Given the description of an element on the screen output the (x, y) to click on. 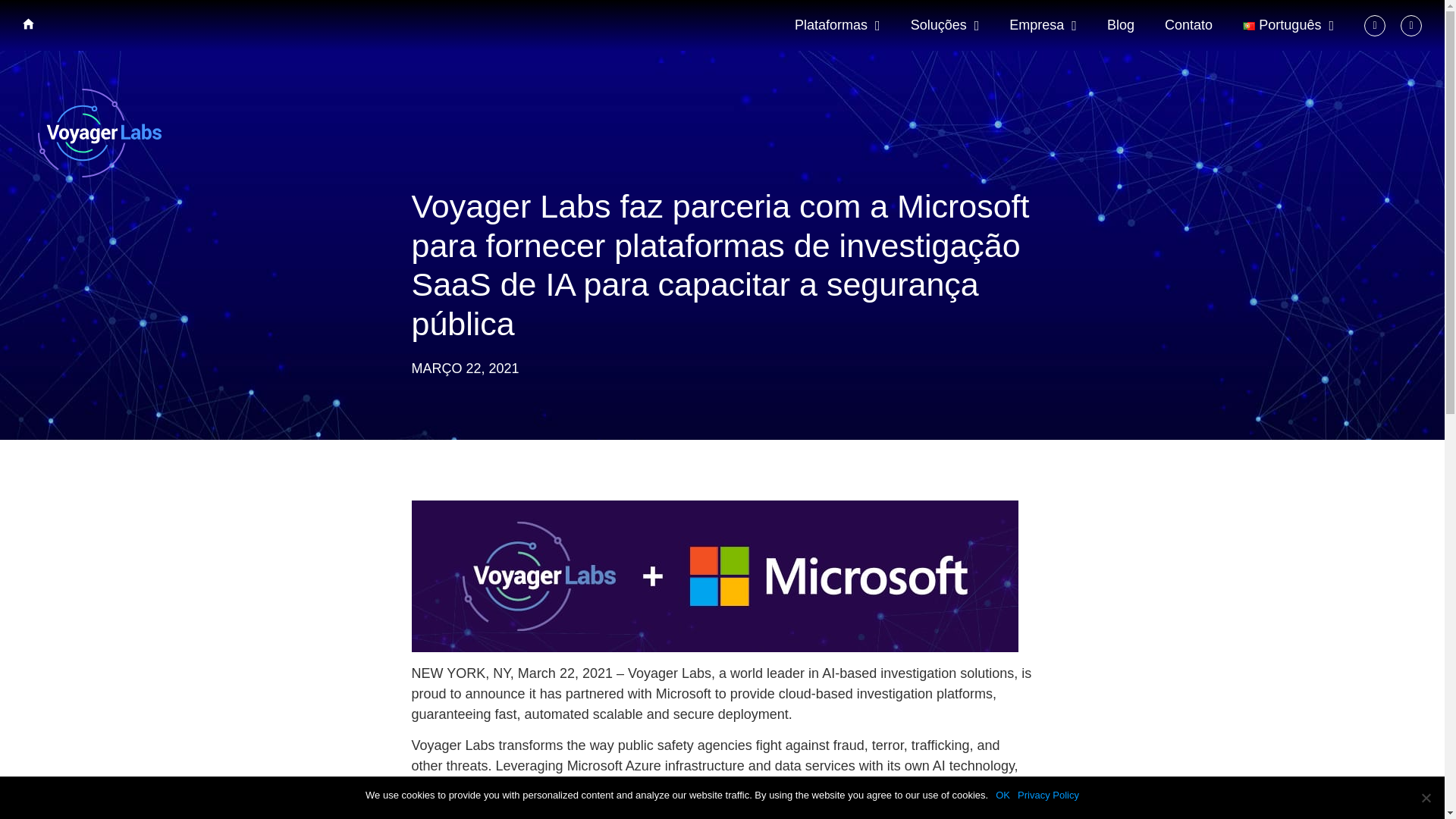
No (1425, 797)
Plataformas (836, 25)
Empresa (1043, 25)
